Given the description of an element on the screen output the (x, y) to click on. 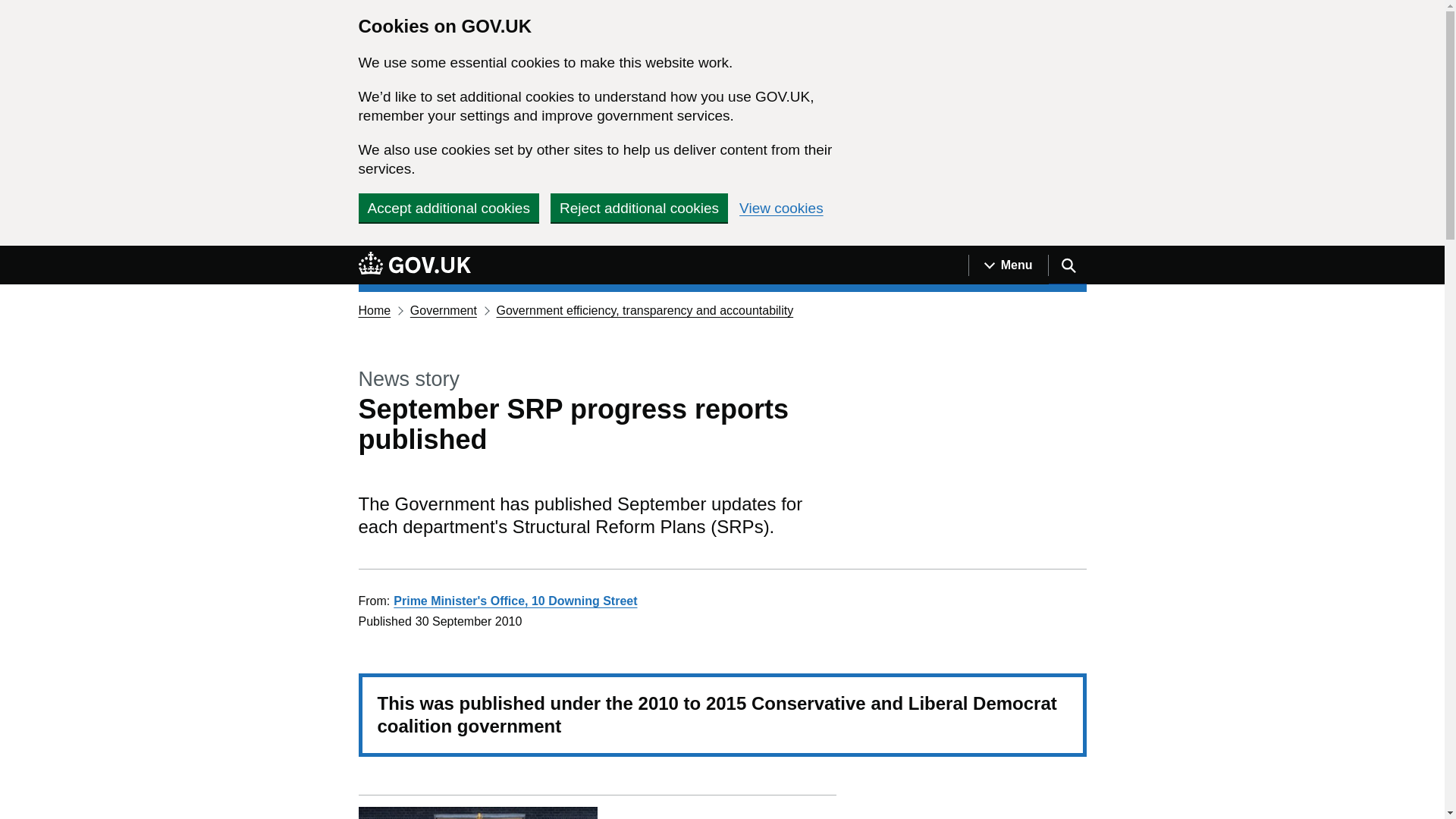
Prime Minister's Office, 10 Downing Street (515, 600)
Search GOV.UK (1067, 265)
Government (443, 309)
Government efficiency, transparency and accountability (644, 309)
Accept additional cookies (448, 207)
Home (374, 309)
Skip to main content (11, 254)
GOV.UK (414, 264)
GOV.UK (414, 262)
View cookies (781, 207)
